Given the description of an element on the screen output the (x, y) to click on. 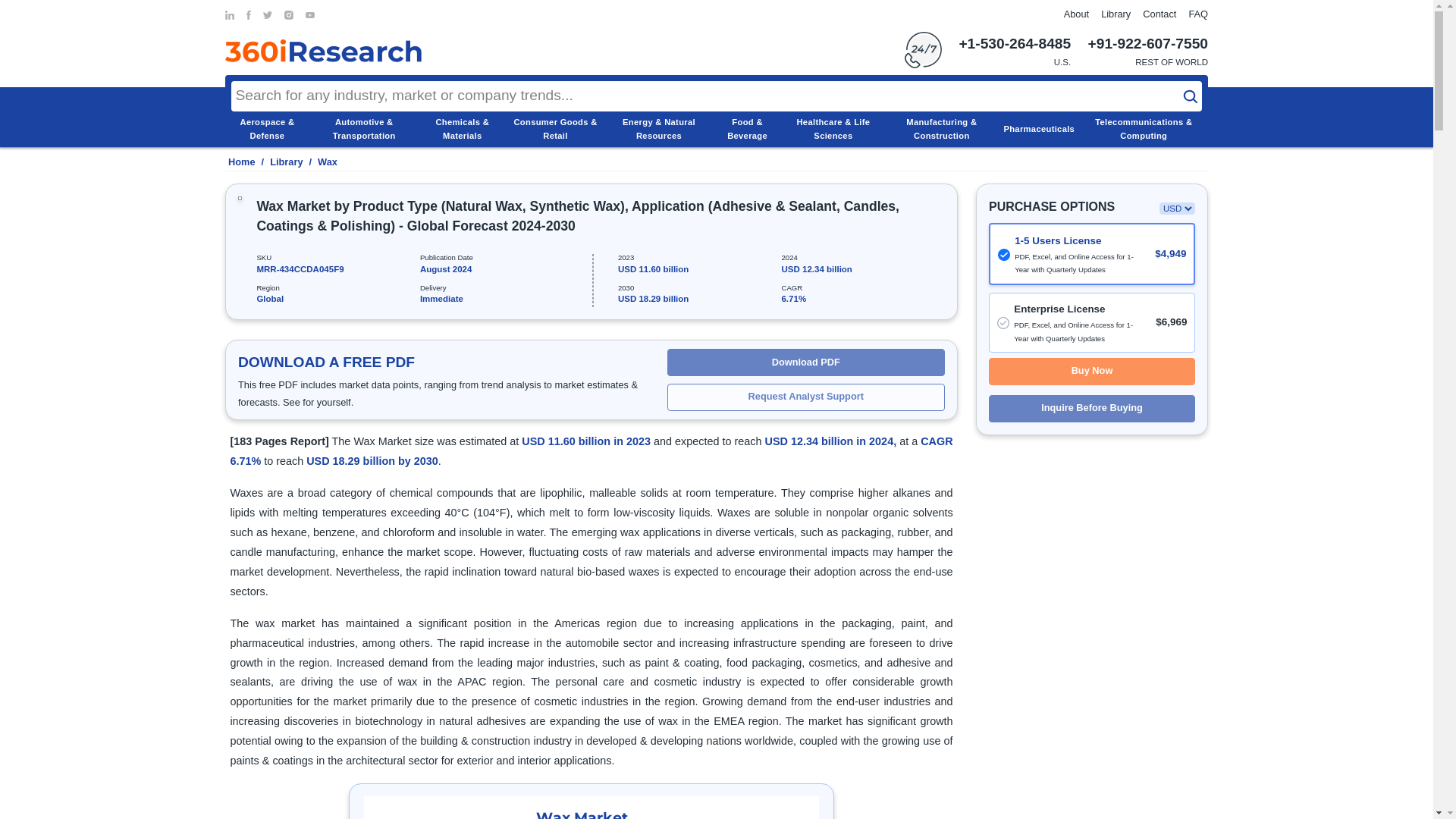
360iResearch.com (323, 50)
Library (285, 161)
Inquire Before Buying (1091, 408)
FAQ (1198, 13)
Contact (1159, 13)
360iResearch Instagram (288, 14)
Wax Market (591, 807)
Download PDF (805, 361)
Wax (327, 161)
360iResearch Youtube (309, 15)
